Given the description of an element on the screen output the (x, y) to click on. 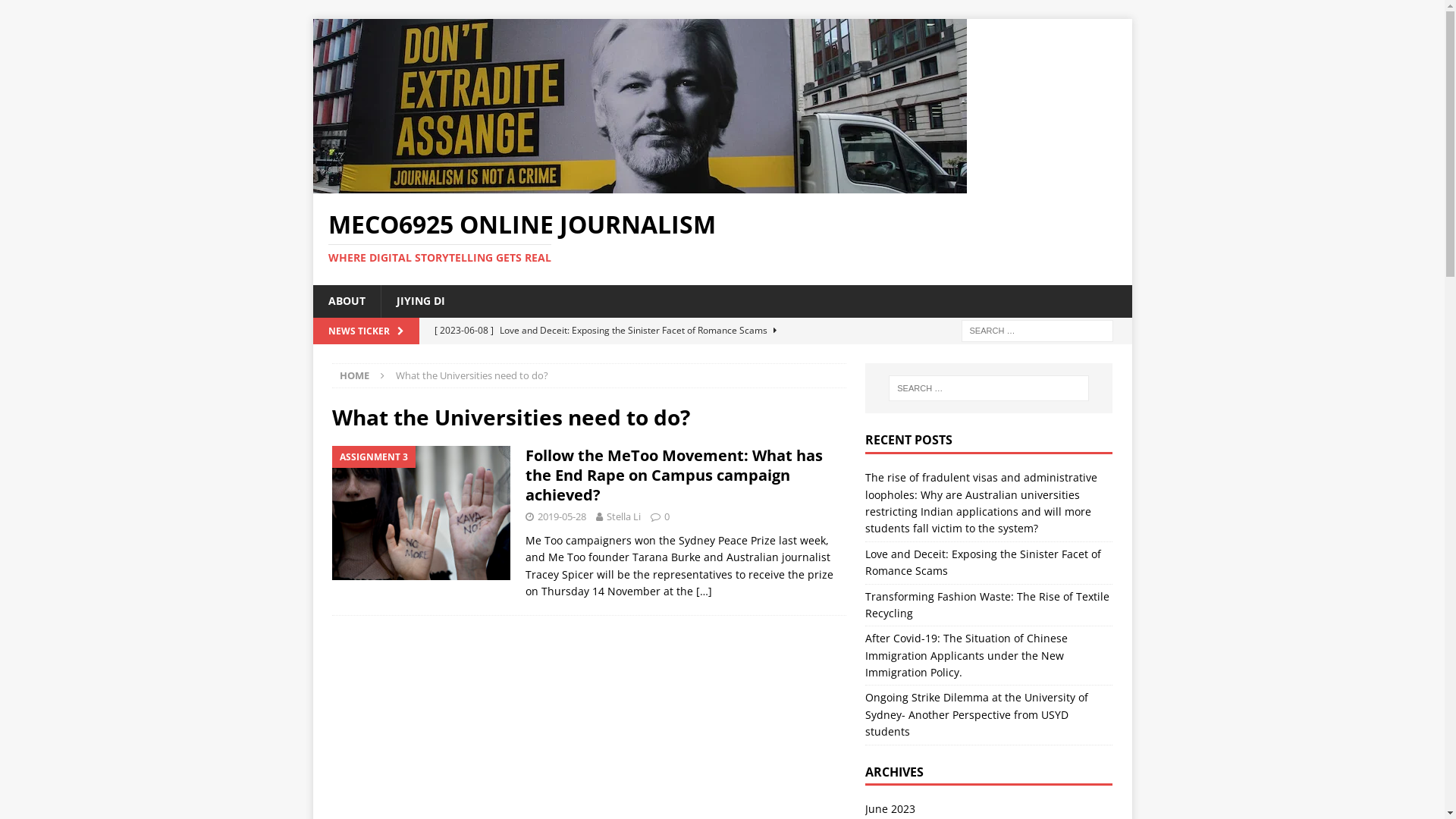
Transforming Fashion Waste: The Rise of Textile Recycling Element type: text (987, 604)
Search Element type: text (56, 11)
ABOUT Element type: text (345, 300)
HOME Element type: text (354, 375)
Stella Li Element type: text (623, 516)
JIYING DI Element type: text (420, 300)
2019-05-28 Element type: text (560, 516)
0 Element type: text (666, 516)
MECO6925 Online Journalism Element type: hover (639, 184)
